Given the description of an element on the screen output the (x, y) to click on. 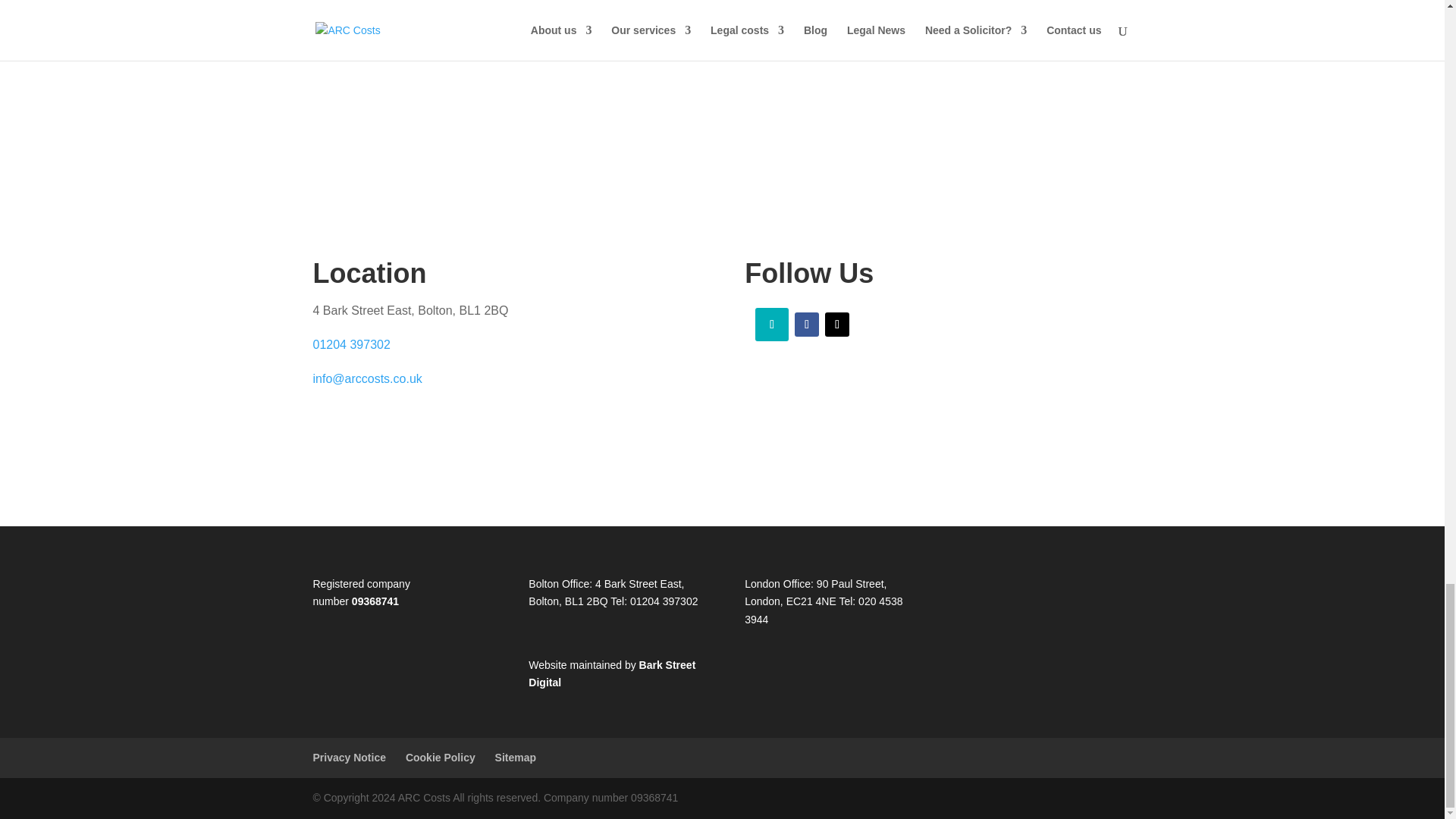
Follow on Facebook (806, 324)
Follow on LinkedIn (772, 324)
Follow on X (836, 324)
